Given the description of an element on the screen output the (x, y) to click on. 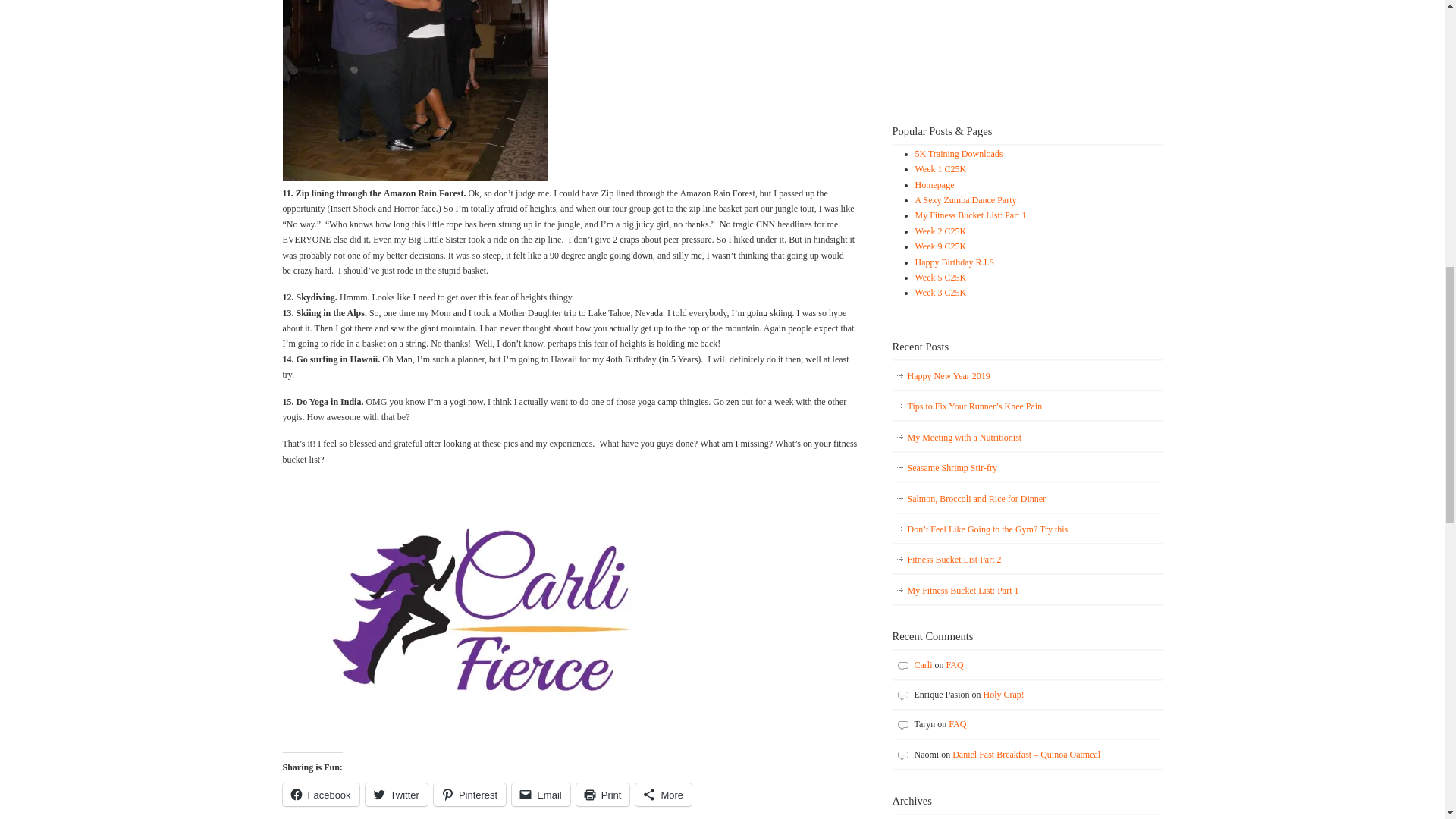
Click to print (603, 793)
Twitter (396, 793)
Click to share on Twitter (396, 793)
Pinterest (469, 793)
Click to email a link to a friend (541, 793)
Click to share on Facebook (320, 793)
Click to share on Pinterest (469, 793)
Facebook (320, 793)
